Given the description of an element on the screen output the (x, y) to click on. 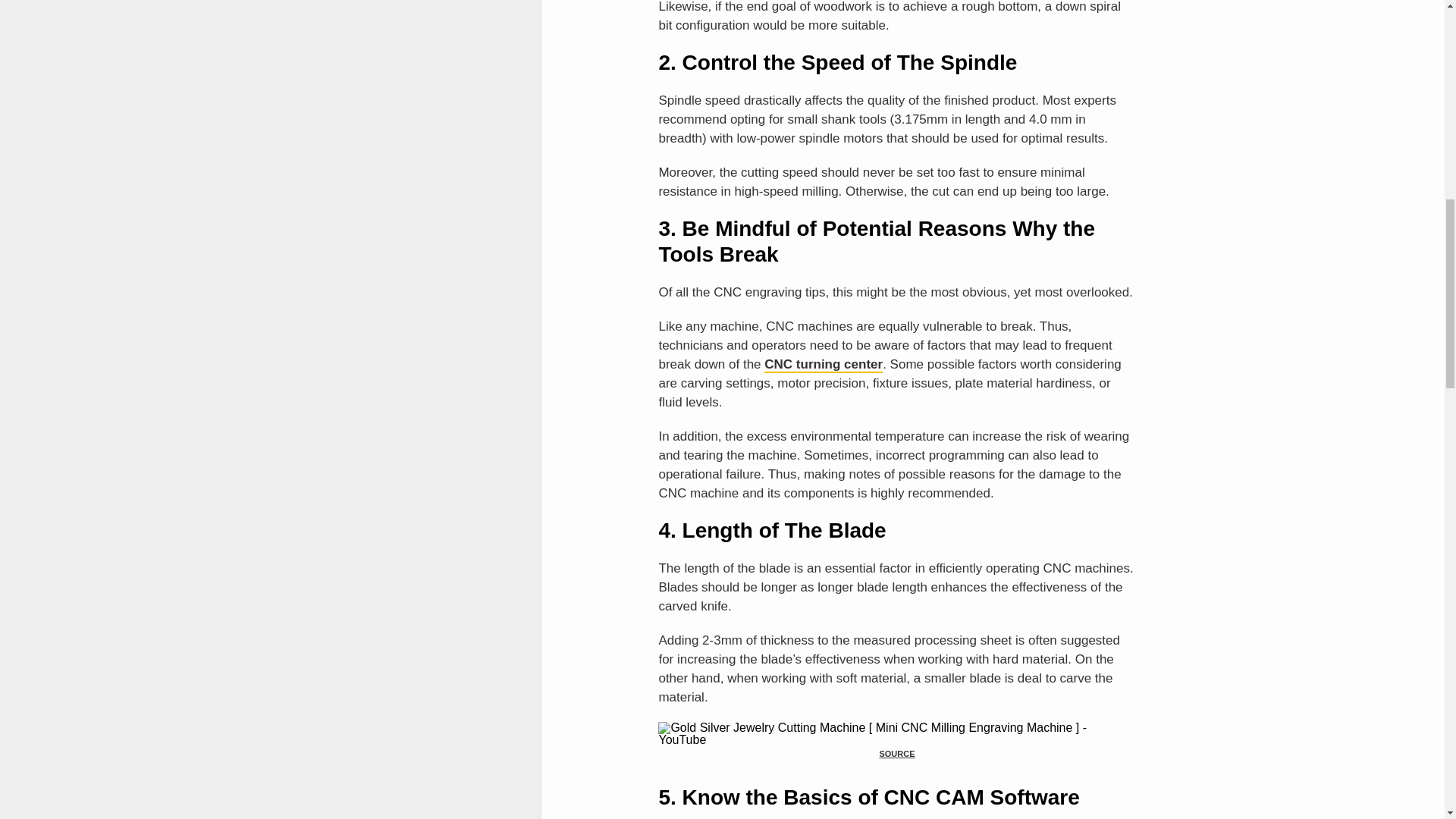
SOURCE (896, 753)
CNC turning center (823, 365)
